Given the description of an element on the screen output the (x, y) to click on. 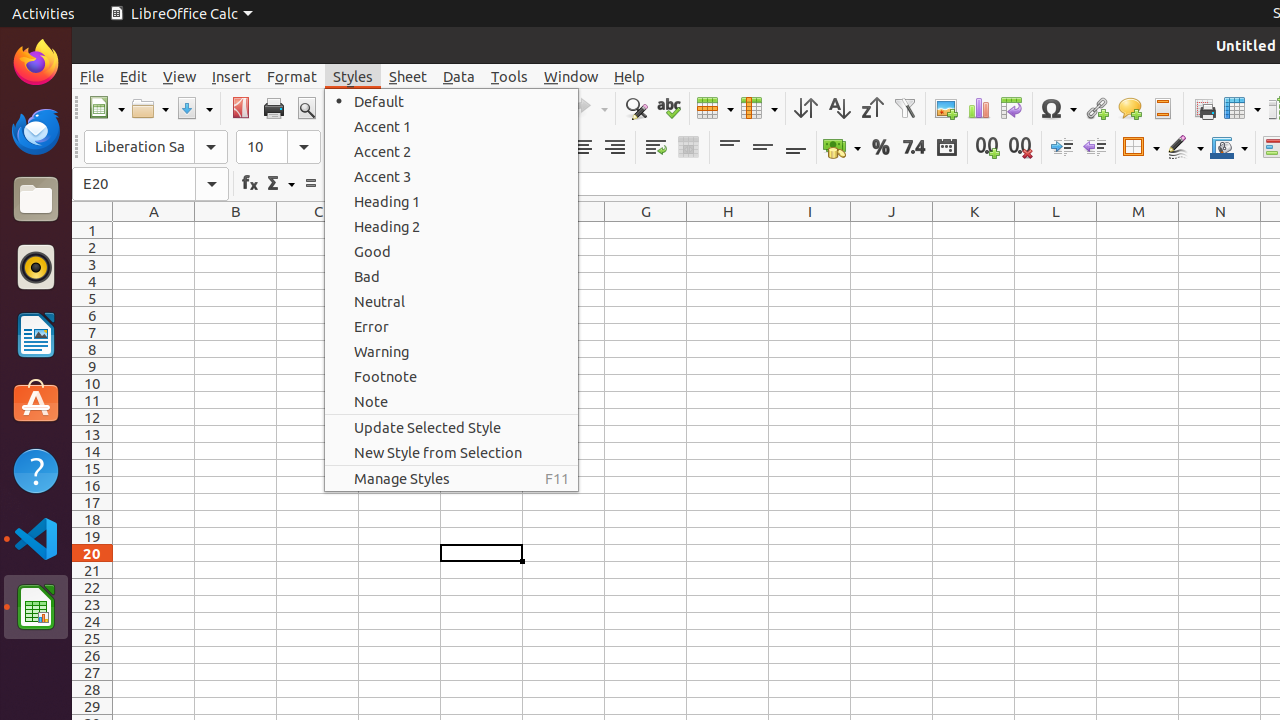
Column Element type: push-button (759, 108)
PDF Element type: push-button (240, 108)
